Given the description of an element on the screen output the (x, y) to click on. 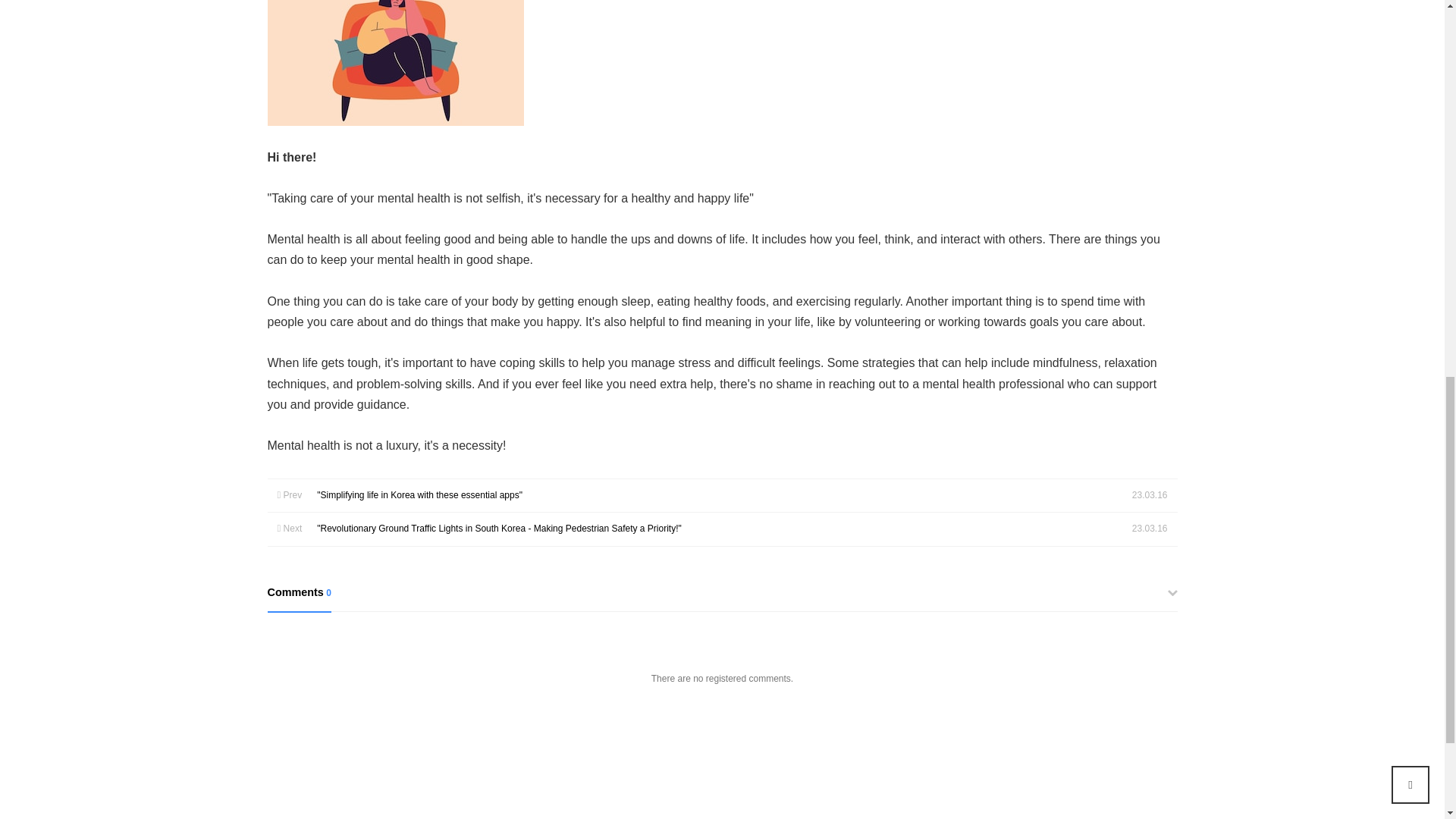
"Simplifying life in Korea with these essential apps" (419, 494)
Comments 0 (721, 598)
